Given the description of an element on the screen output the (x, y) to click on. 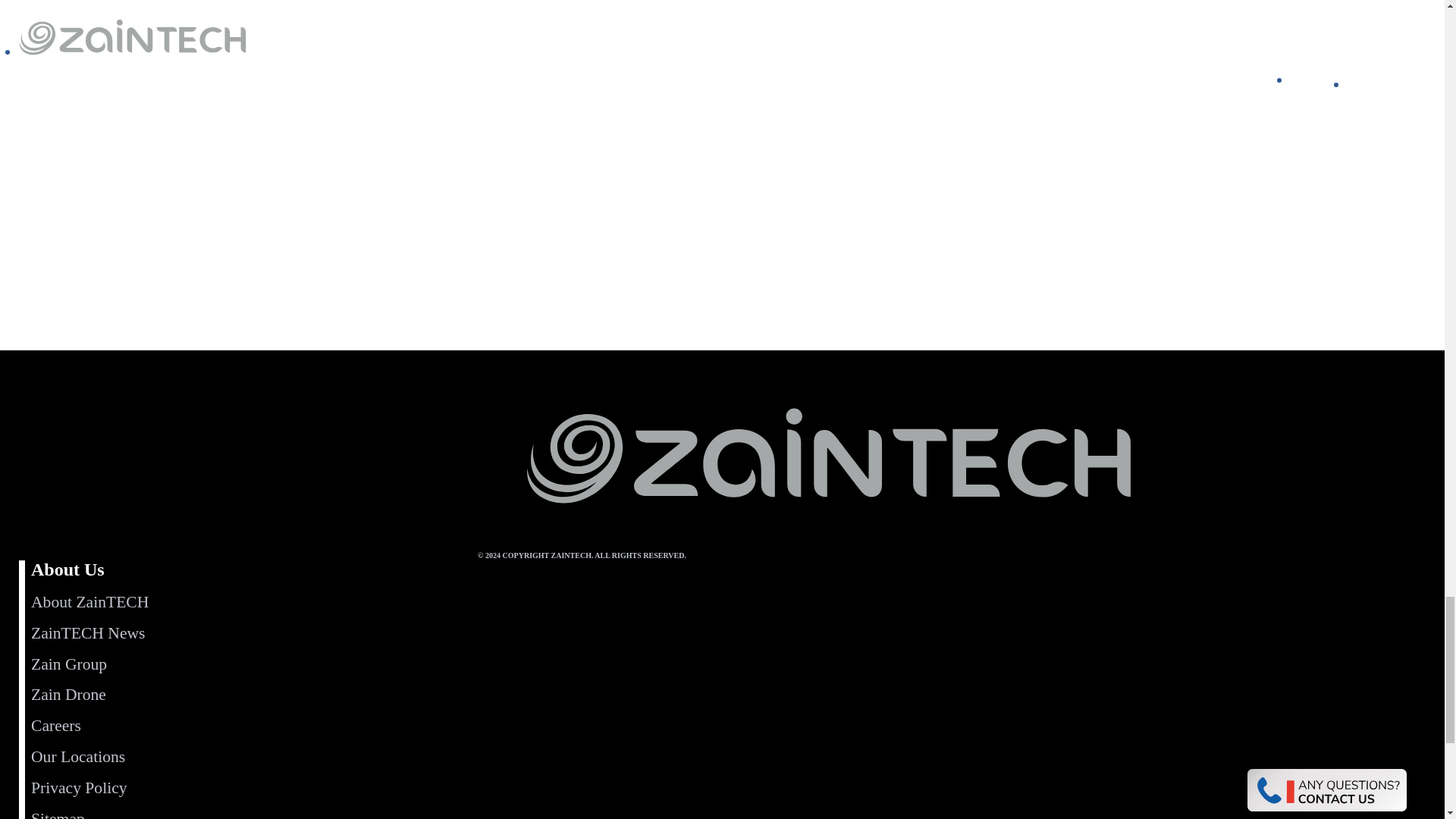
About ZainTECH (89, 601)
Sitemap (57, 814)
ZainTECH News (87, 633)
Our Locations (77, 756)
Privacy Policy (79, 787)
Zain Drone (68, 694)
Careers (55, 725)
Zain Group (68, 664)
